Given the description of an element on the screen output the (x, y) to click on. 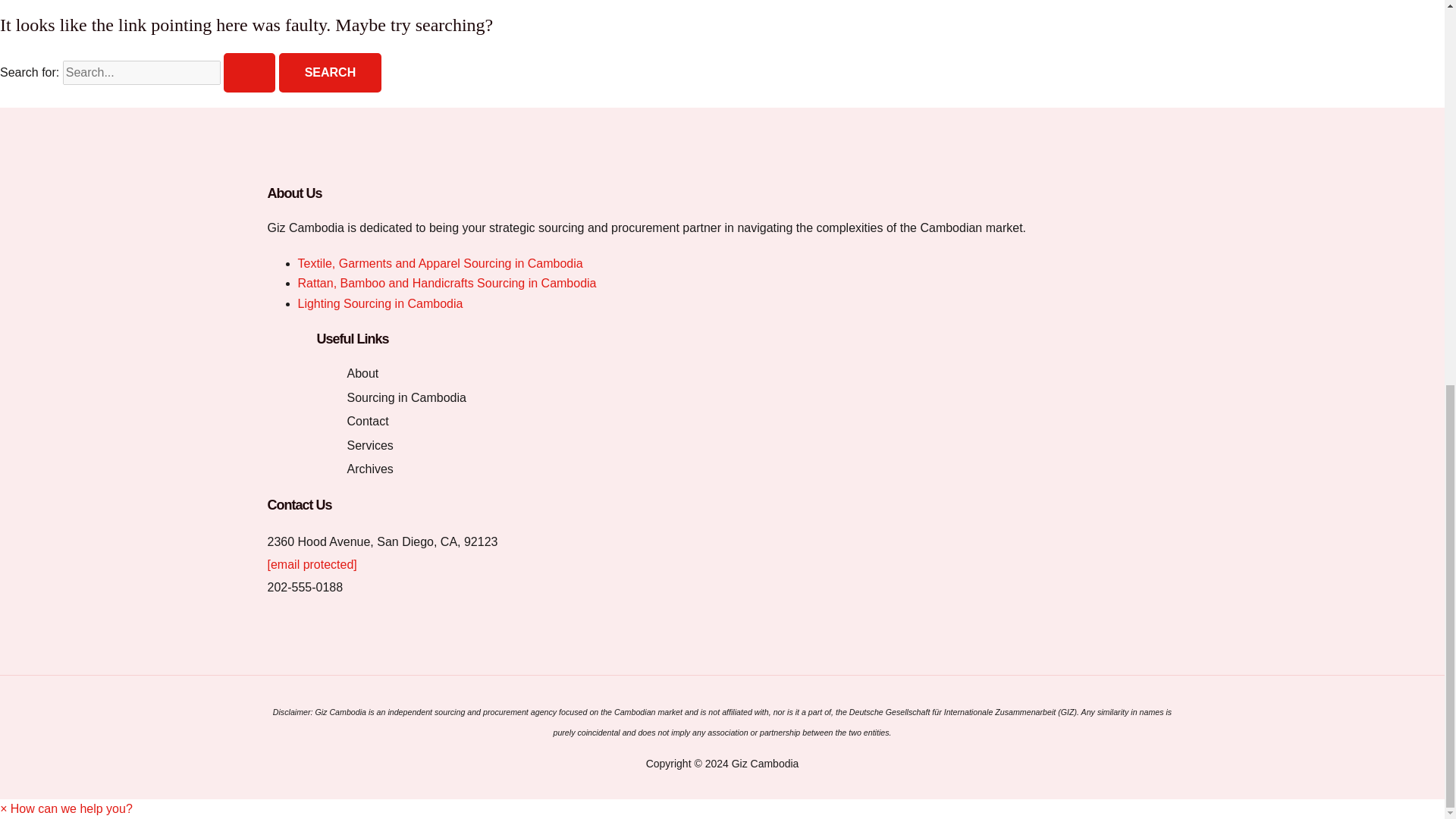
Archives (370, 471)
Contact (367, 422)
Lighting Sourcing in Cambodia (380, 303)
Sourcing in Cambodia (406, 399)
Rattan, Bamboo and Handicrafts Sourcing in Cambodia (446, 282)
About (362, 375)
Services (370, 447)
Search (330, 72)
Search (330, 72)
Search (330, 72)
